Given the description of an element on the screen output the (x, y) to click on. 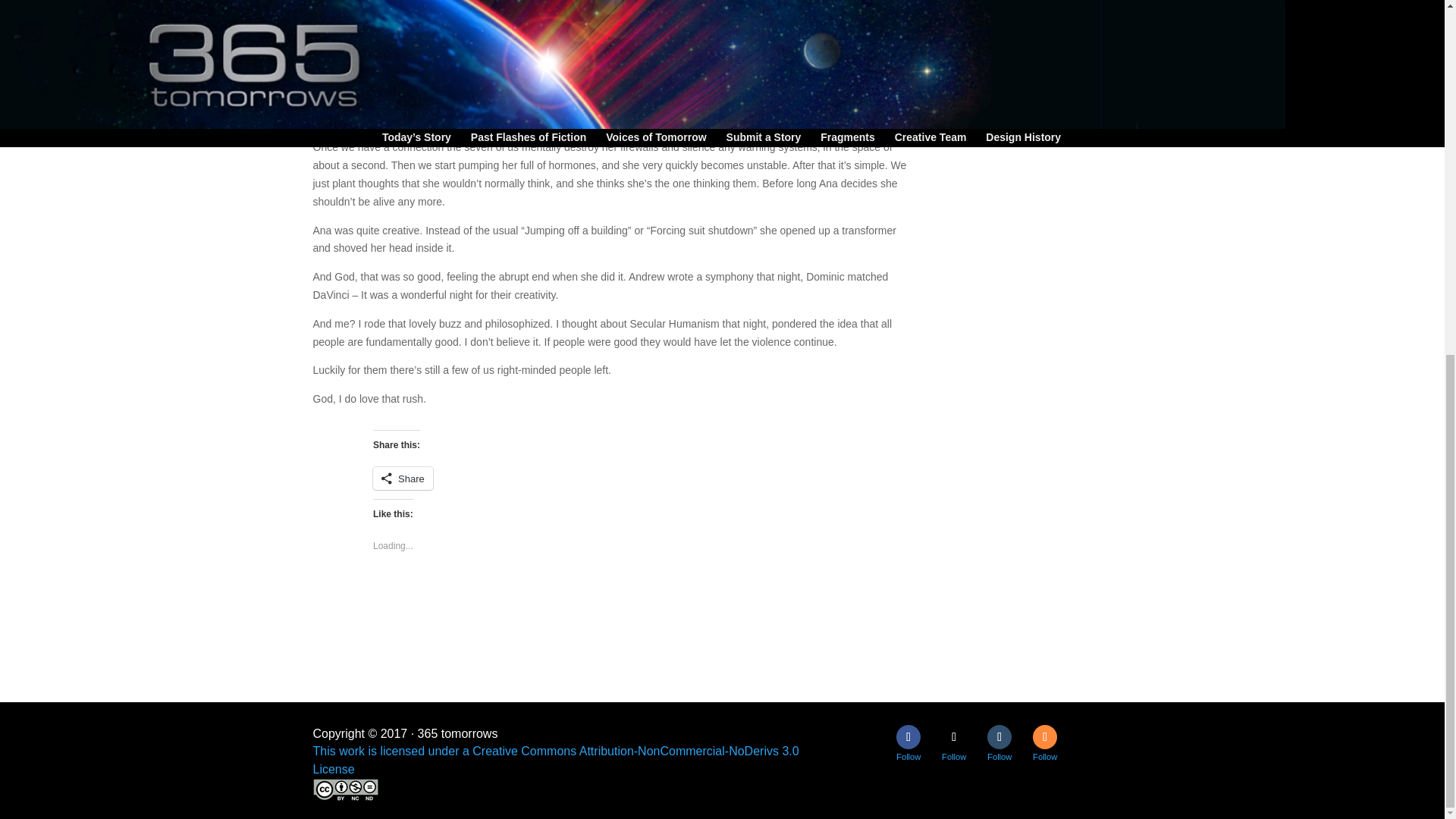
Follow (954, 736)
Follow (1044, 736)
Follow on Facebook (908, 736)
Follow on Twitter (954, 736)
Follow (999, 736)
Follow on RSS (1044, 736)
Share (402, 477)
Like or Reblog (673, 598)
Follow (908, 736)
Follow on tumblr (999, 736)
